Given the description of an element on the screen output the (x, y) to click on. 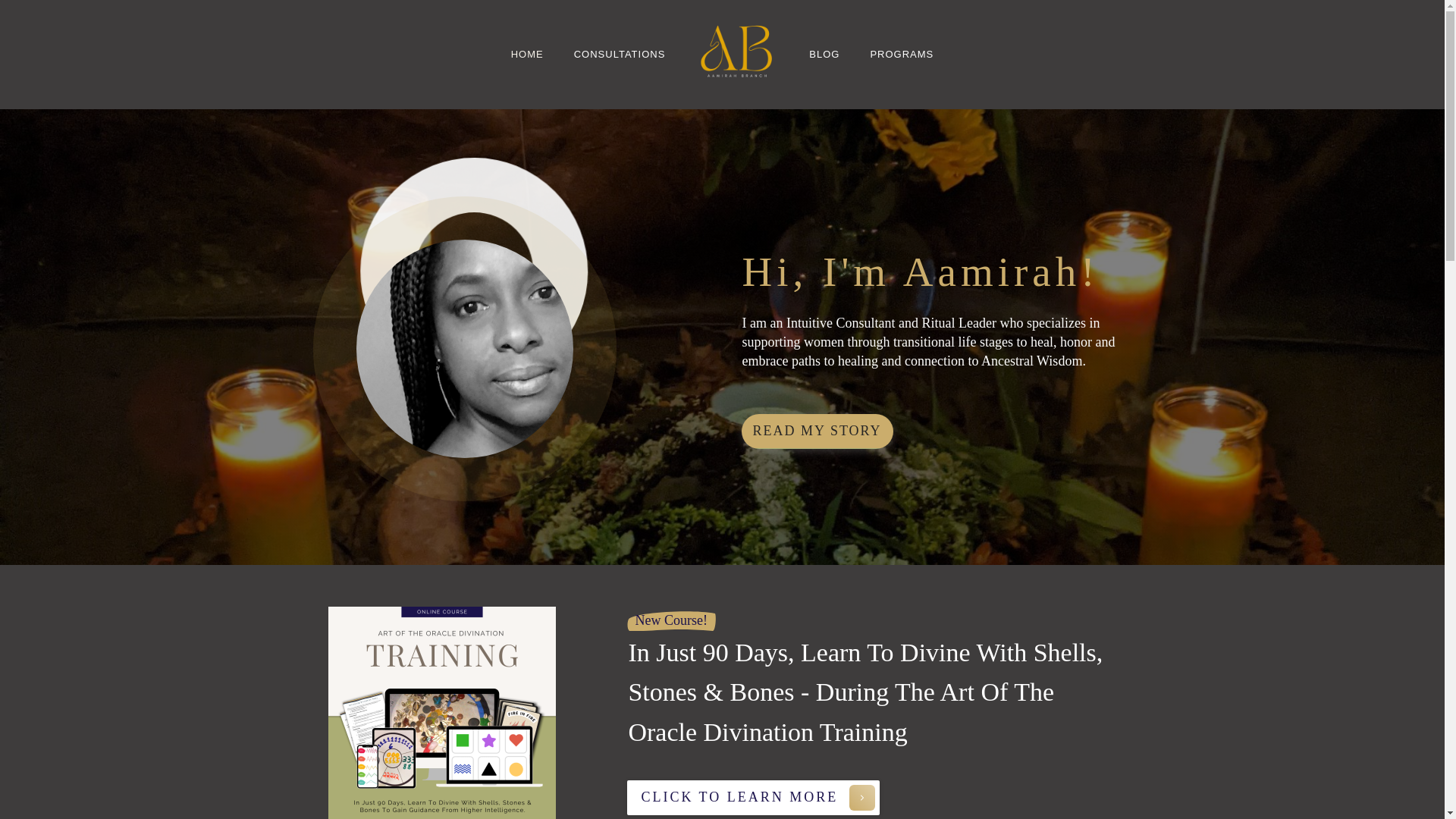
art of the oracle divination banner1 (440, 712)
PROGRAMS (901, 54)
CLICK TO LEARN MORE (753, 797)
BLOG (824, 54)
READ MY STORY (817, 431)
CONSULTATIONS (619, 54)
HOME (527, 54)
